Given the description of an element on the screen output the (x, y) to click on. 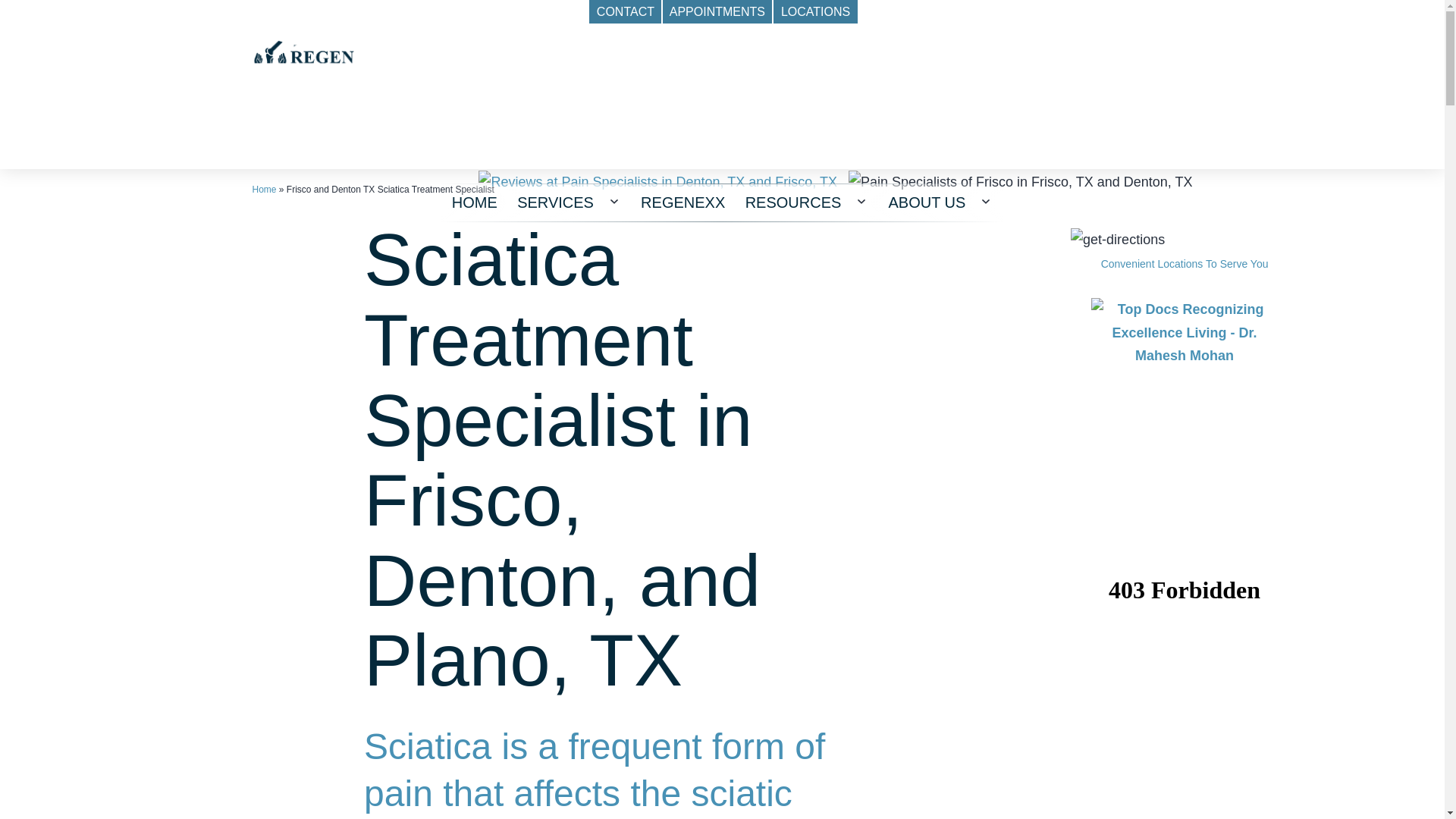
REGENEXX (682, 202)
Locations - Pain Specialists in Denton, TX and Frisco, TX (1117, 239)
HOME (474, 202)
RESOURCES (792, 202)
LOCATIONS (815, 11)
Open menu (613, 202)
SERVICES (555, 202)
Pain Specialists of Frisco in Frisco, TX and Denton, TX (1020, 182)
APPOINTMENTS (716, 11)
Open menu (860, 202)
